Given the description of an element on the screen output the (x, y) to click on. 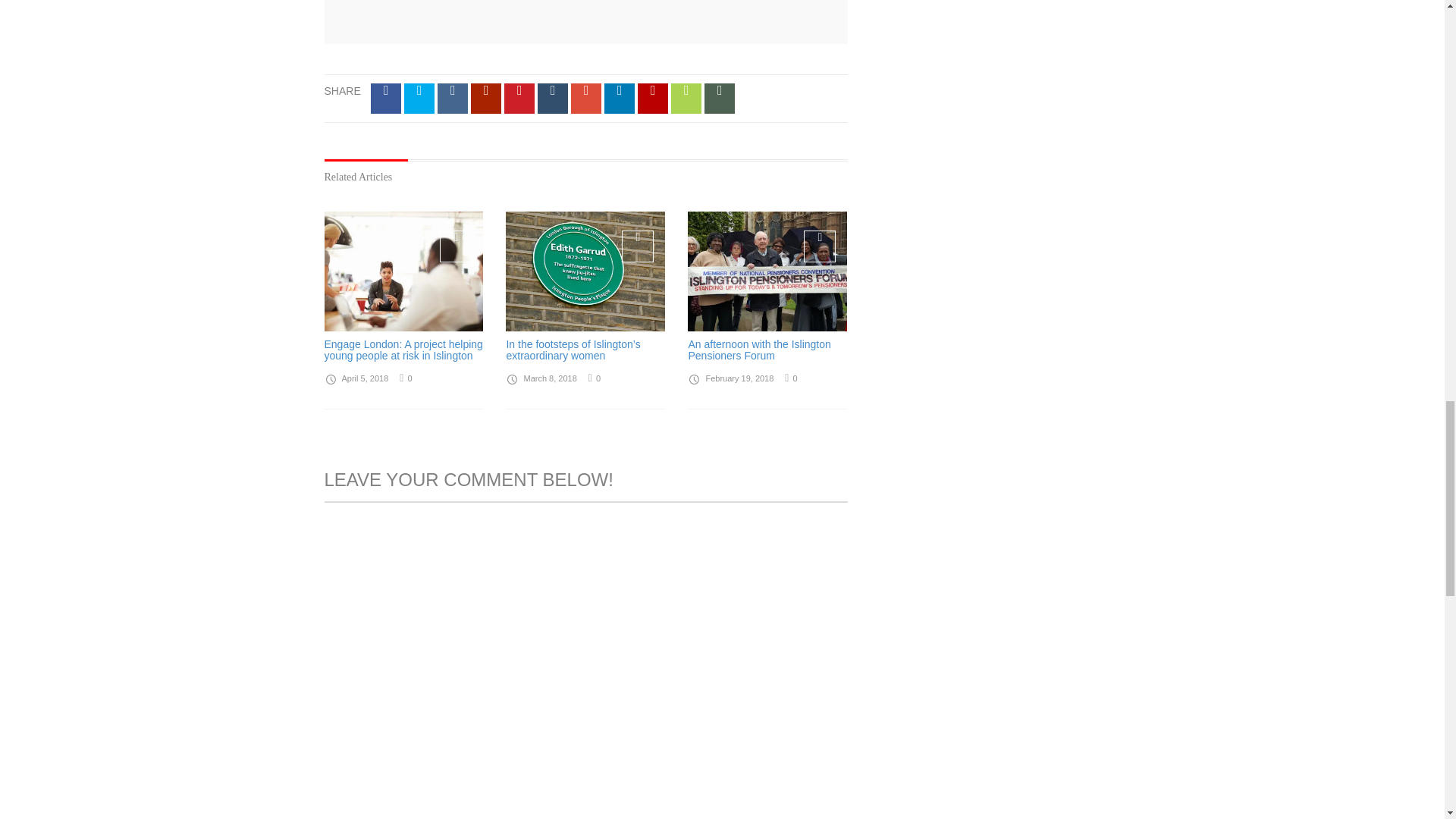
Tweet about this on Twitter (418, 98)
Share on Reddit (485, 98)
Pin on Pinterest (518, 98)
Digg this (452, 98)
Share on Facebook (386, 98)
share on Tumblr (552, 98)
